Given the description of an element on the screen output the (x, y) to click on. 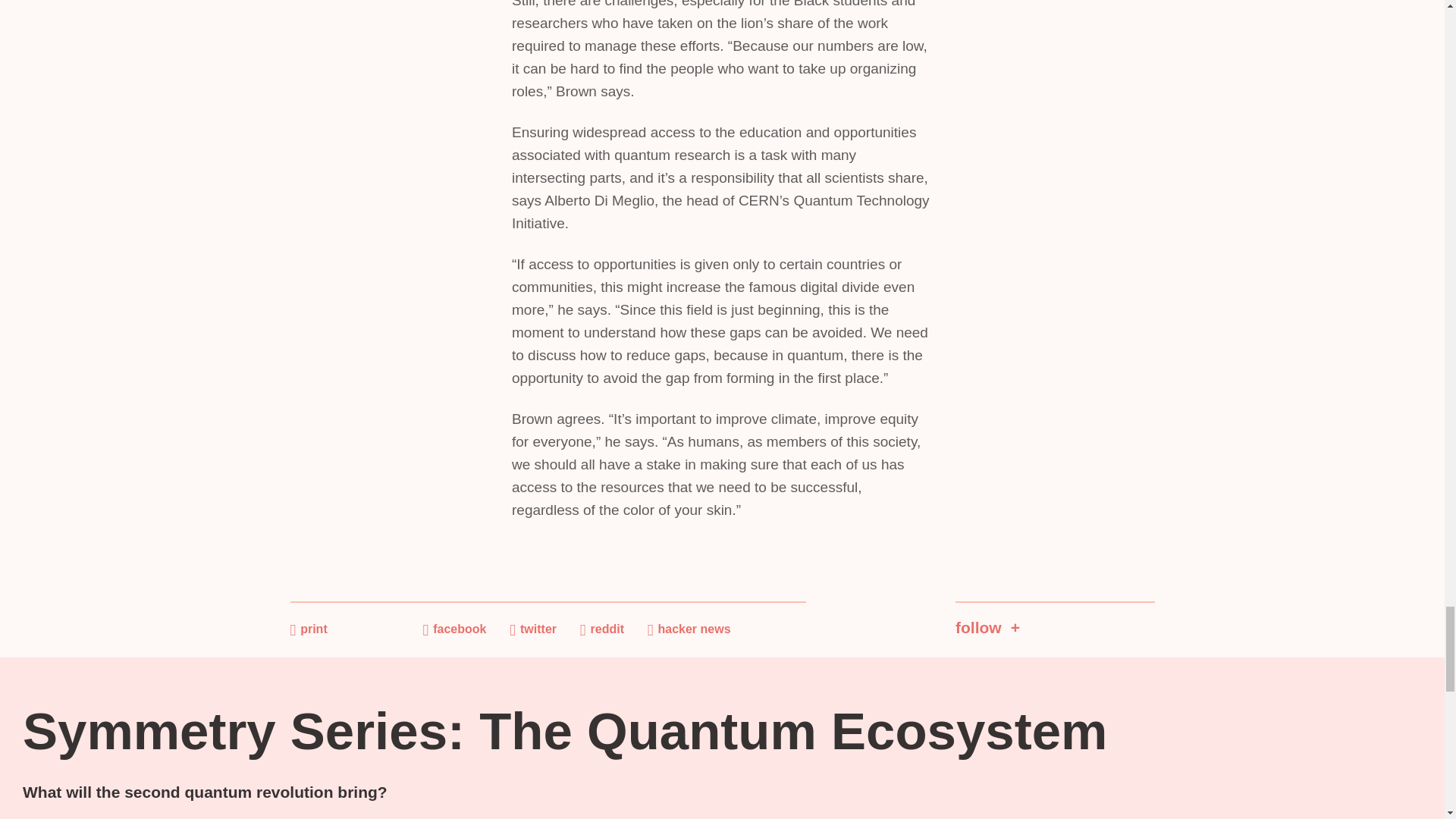
follow (1054, 620)
reddit (601, 628)
facebook (454, 628)
print (307, 628)
hacker news (688, 628)
twitter (532, 628)
Symmetry Series: The Quantum Ecosystem (564, 730)
